Given the description of an element on the screen output the (x, y) to click on. 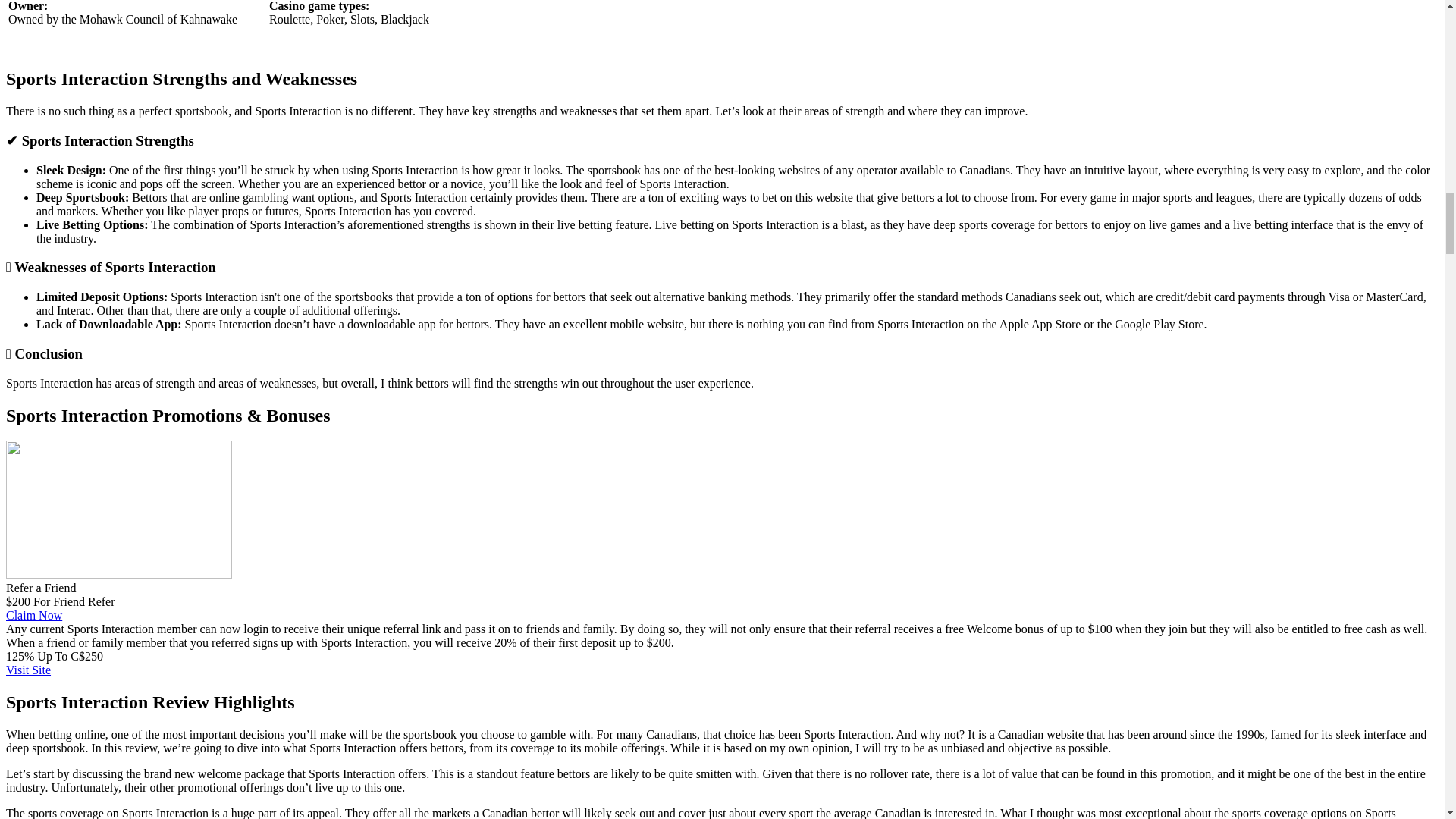
REFER A FRIEND (118, 509)
